Given the description of an element on the screen output the (x, y) to click on. 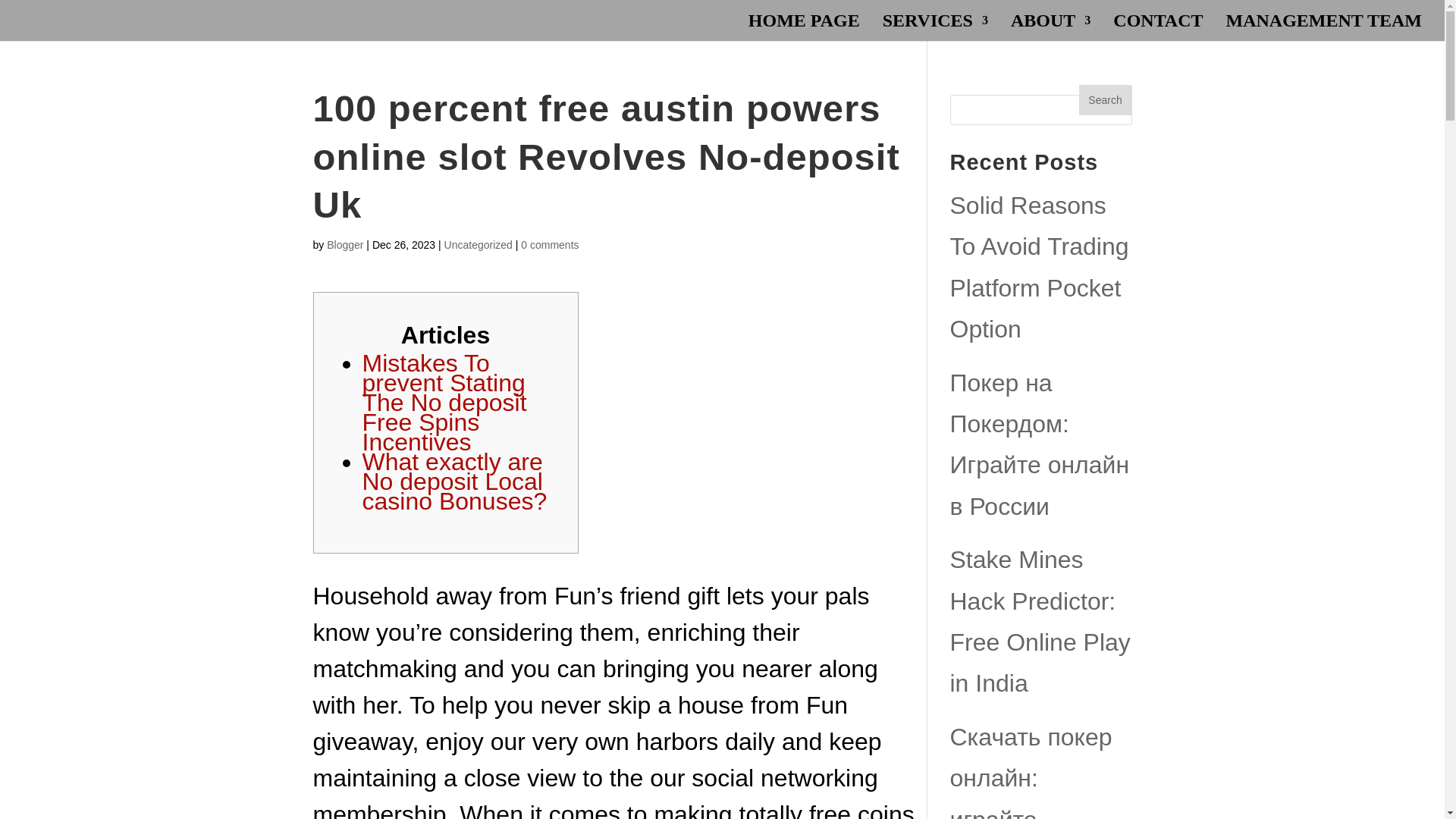
MANAGEMENT TEAM (1323, 27)
Search (1104, 100)
CONTACT (1157, 27)
Posts by Blogger (344, 244)
Uncategorized (478, 244)
ABOUT (1050, 27)
Search (1104, 100)
SERVICES (935, 27)
What exactly are No deposit Local casino Bonuses? (454, 481)
HOME PAGE (804, 27)
